Given the description of an element on the screen output the (x, y) to click on. 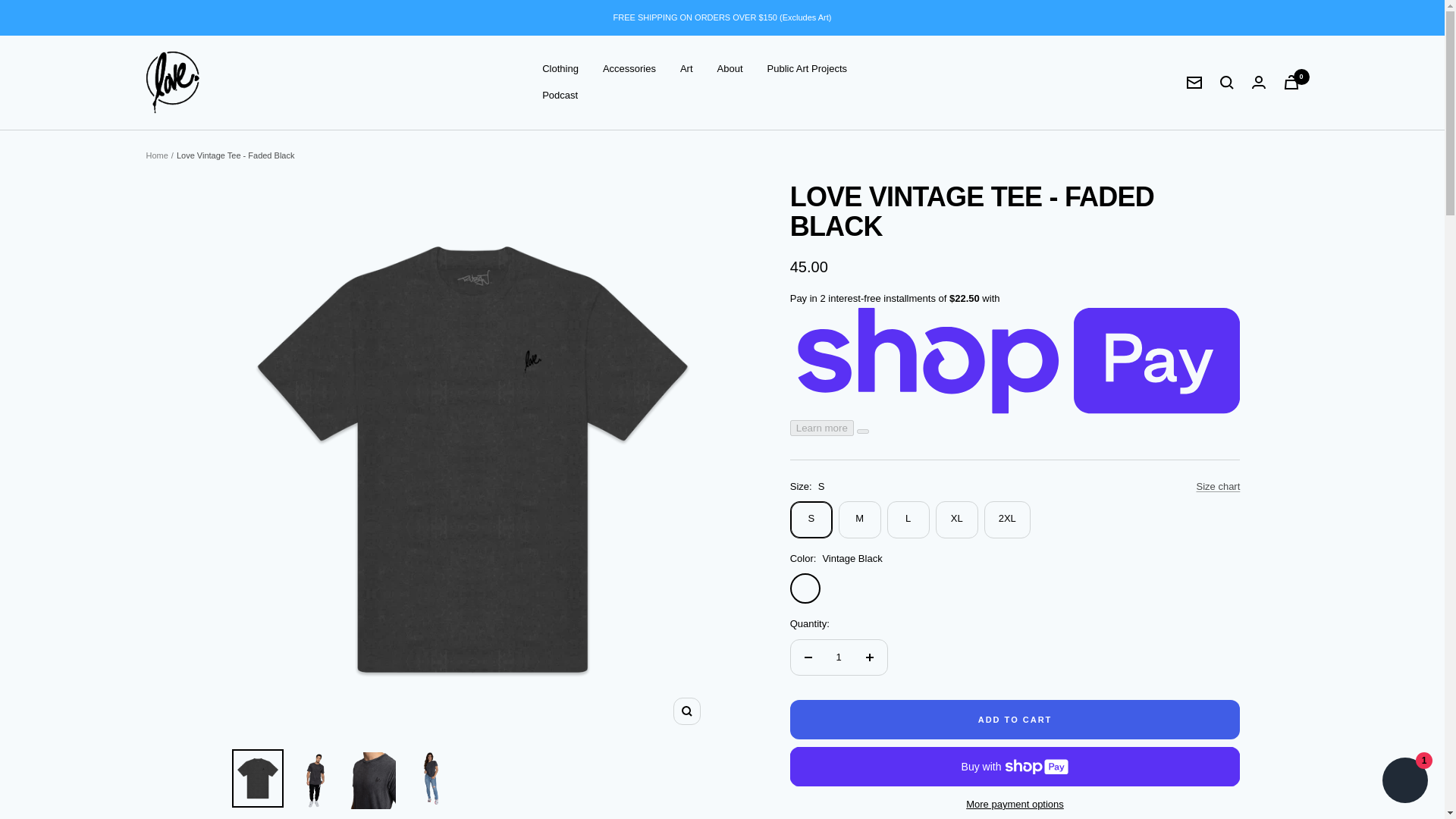
ADD TO CART (1015, 719)
Decrease quantity (807, 656)
Public Art Projects (807, 68)
Clothing (559, 68)
Size chart (1218, 487)
Shopify online store chat (1404, 781)
Podcast (559, 95)
Accessories (629, 68)
More payment options (1015, 805)
About (729, 68)
